Given the description of an element on the screen output the (x, y) to click on. 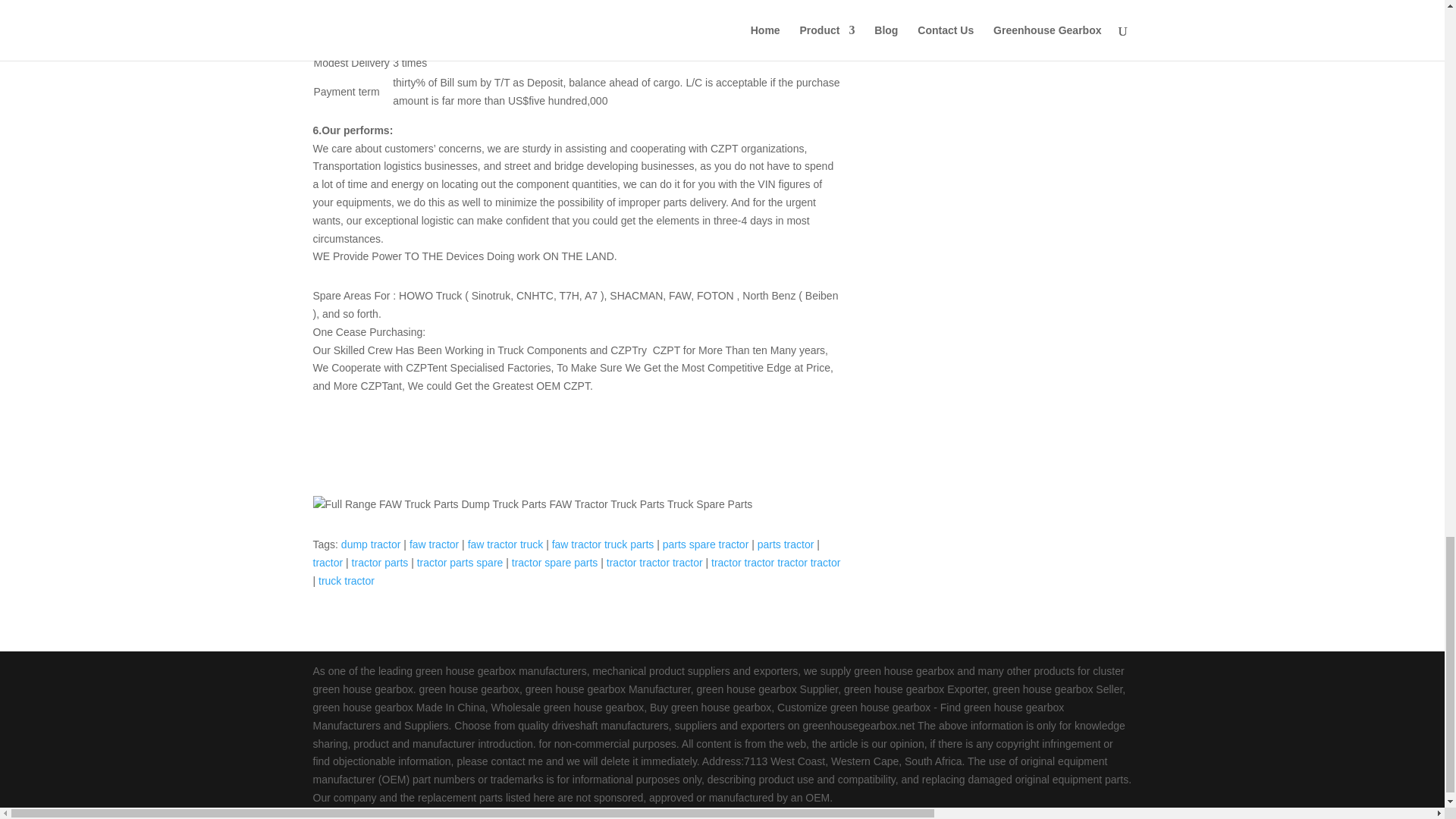
parts spare tractor (705, 544)
tractor parts spare (459, 562)
tractor tractor tractor tractor (775, 562)
parts tractor (785, 544)
faw tractor truck (505, 544)
faw tractor truck parts (602, 544)
truck tractor (346, 580)
tractor tractor tractor (655, 562)
tractor spare parts (555, 562)
tractor parts (380, 562)
